Given the description of an element on the screen output the (x, y) to click on. 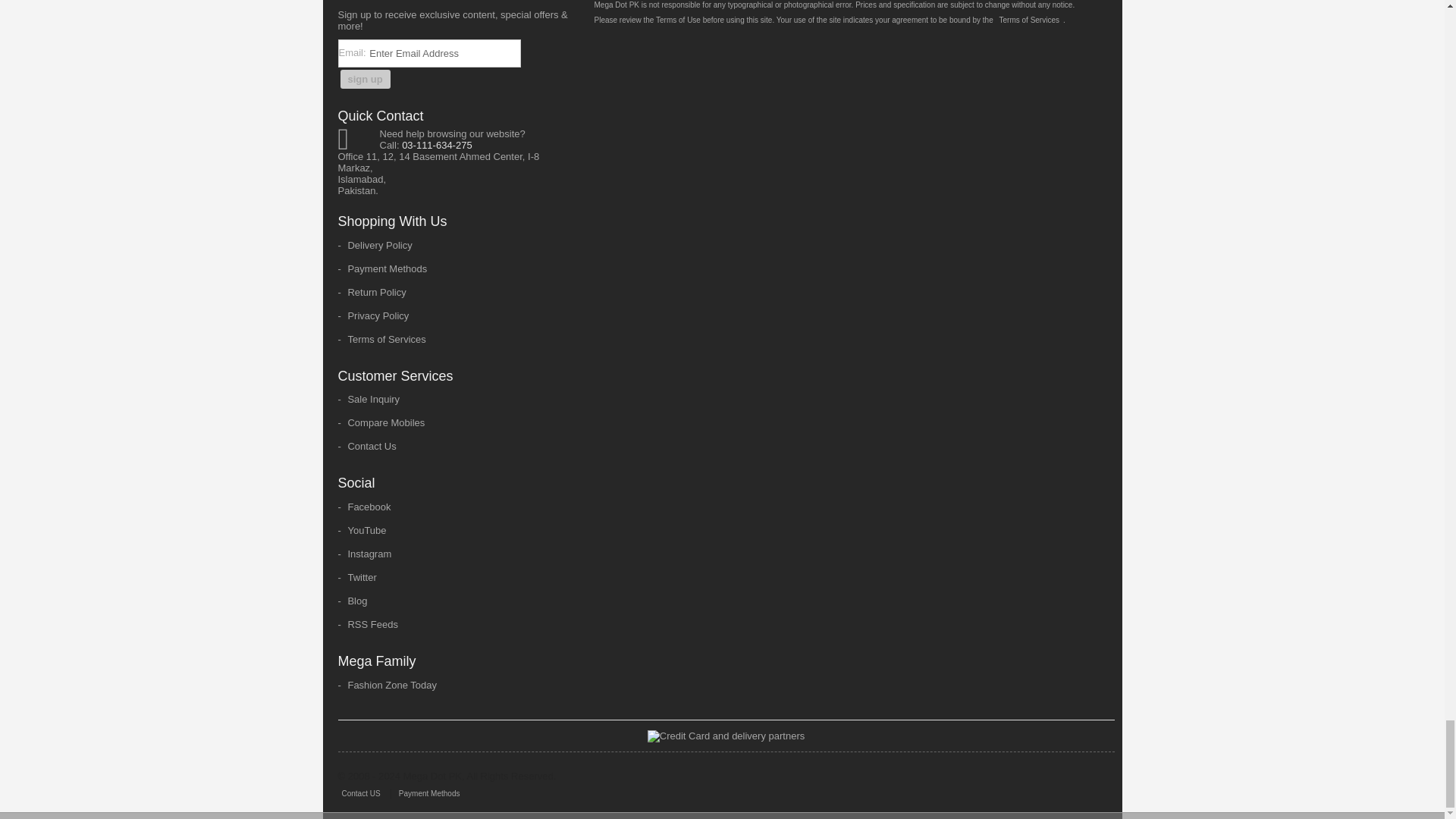
Enter Email Address (443, 53)
